Given the description of an element on the screen output the (x, y) to click on. 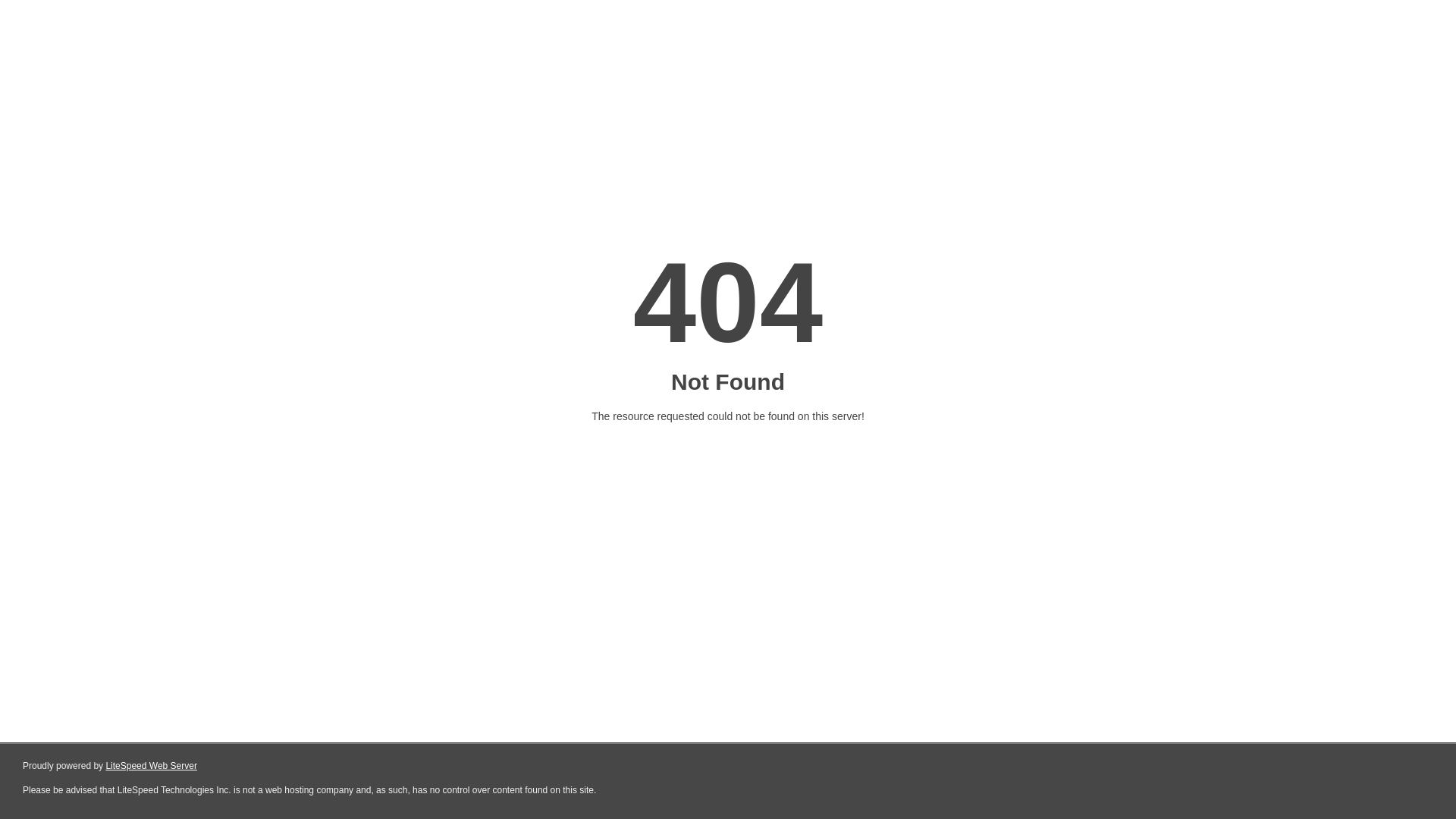
LiteSpeed Web Server (150, 765)
